Given the description of an element on the screen output the (x, y) to click on. 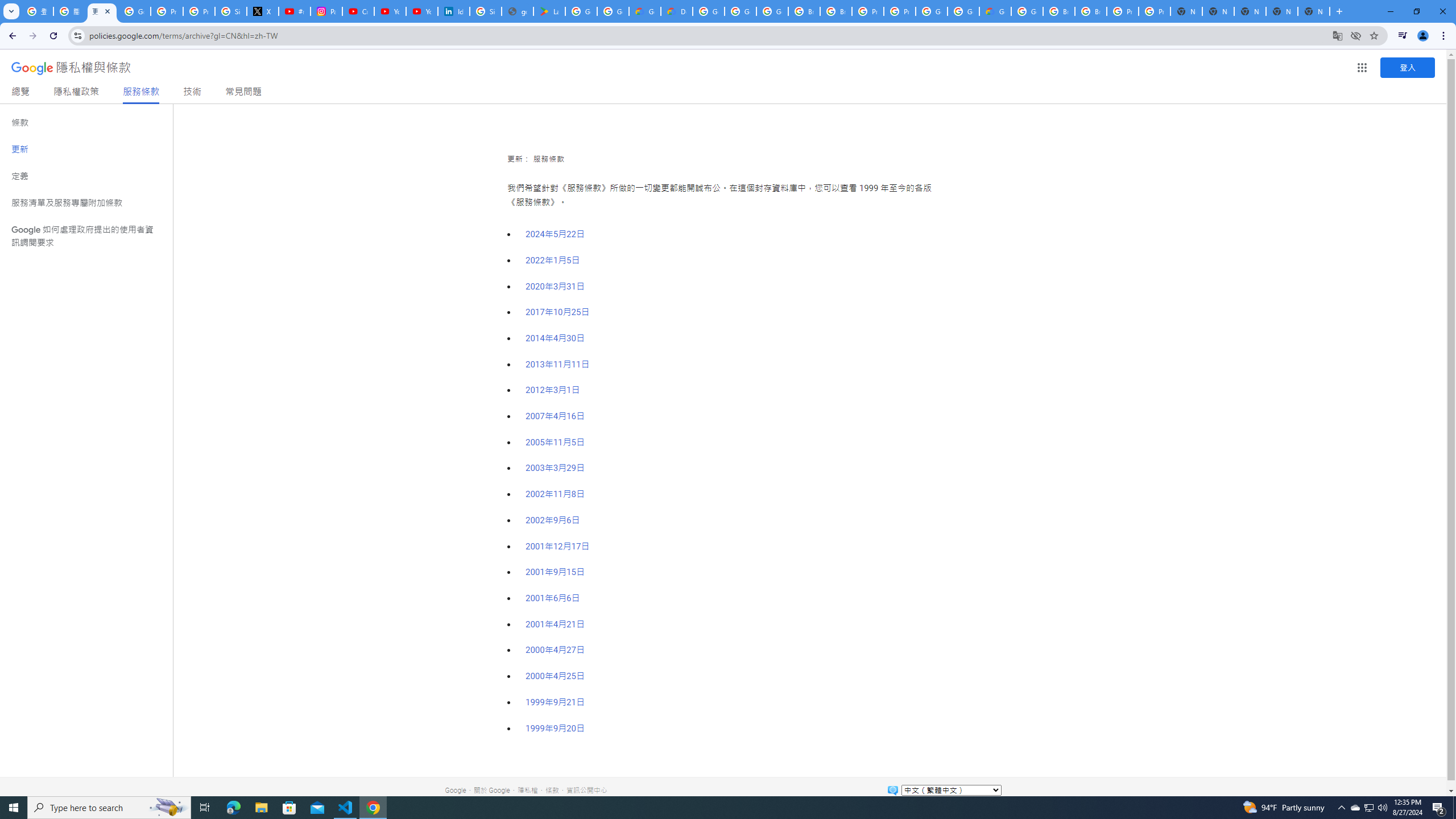
Google Cloud Platform (1027, 11)
Google Cloud Platform (931, 11)
YouTube Culture & Trends - YouTube Top 10, 2021 (421, 11)
